Given the description of an element on the screen output the (x, y) to click on. 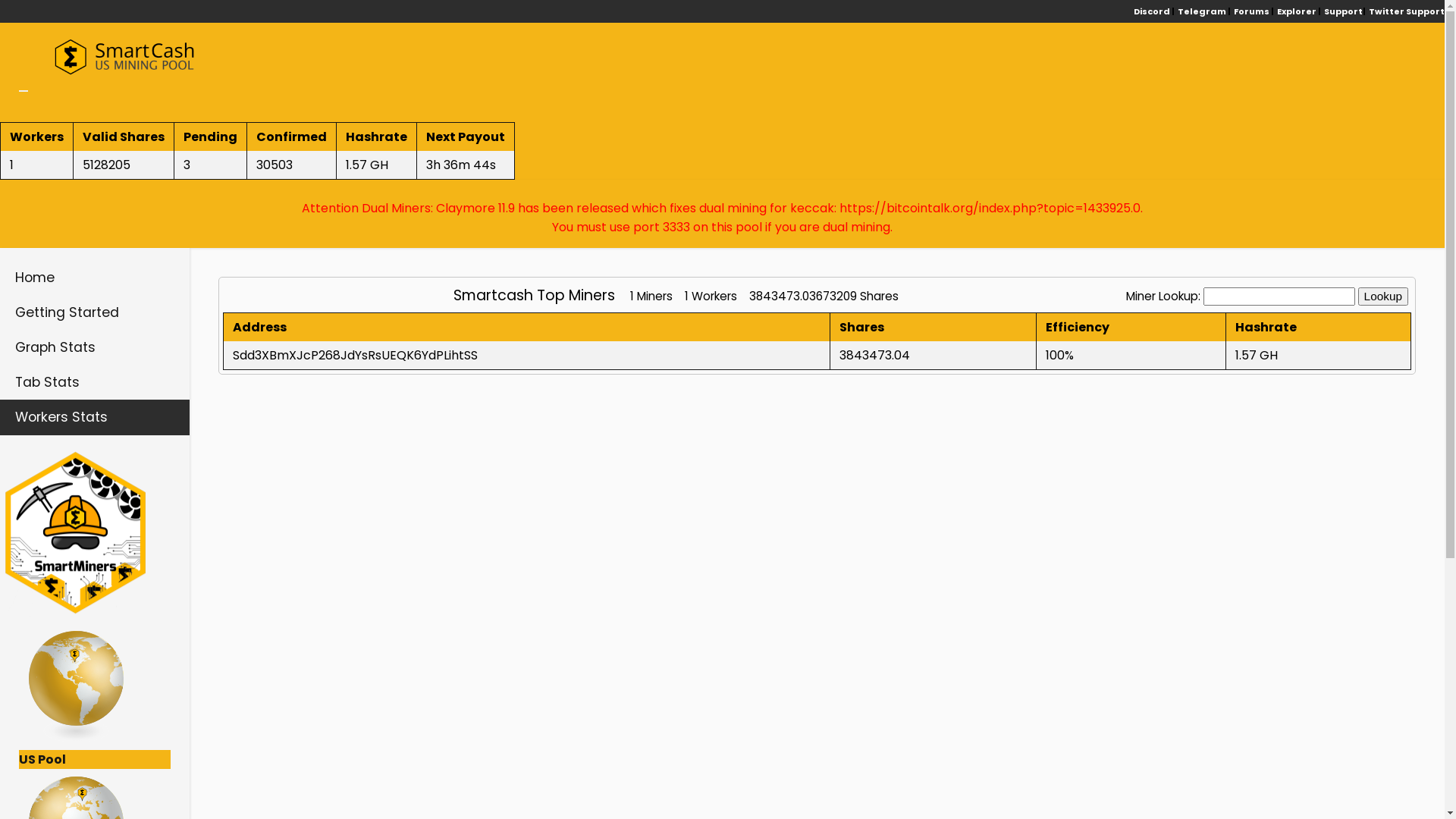
 Forums Element type: text (1250, 11)
  Graph Stats Element type: text (94, 346)
 Twitter Support Element type: text (1405, 11)
  Home Element type: text (94, 277)
Sdd3XBmXJcP268JdYsRsUEQK6YdPLihtSS Element type: text (354, 355)
 Discord Element type: text (1151, 11)
 Explorer Element type: text (1295, 11)
  Getting Started Element type: text (94, 311)
  Workers Stats Element type: text (94, 416)
https://bitcointalk.org/index.php?topic=1433925.0 Element type: text (989, 207)
Lookup Element type: text (1383, 296)
  Tab Stats Element type: text (94, 381)
 Telegram Element type: text (1201, 11)
 Support Element type: text (1342, 11)
